Given the description of an element on the screen output the (x, y) to click on. 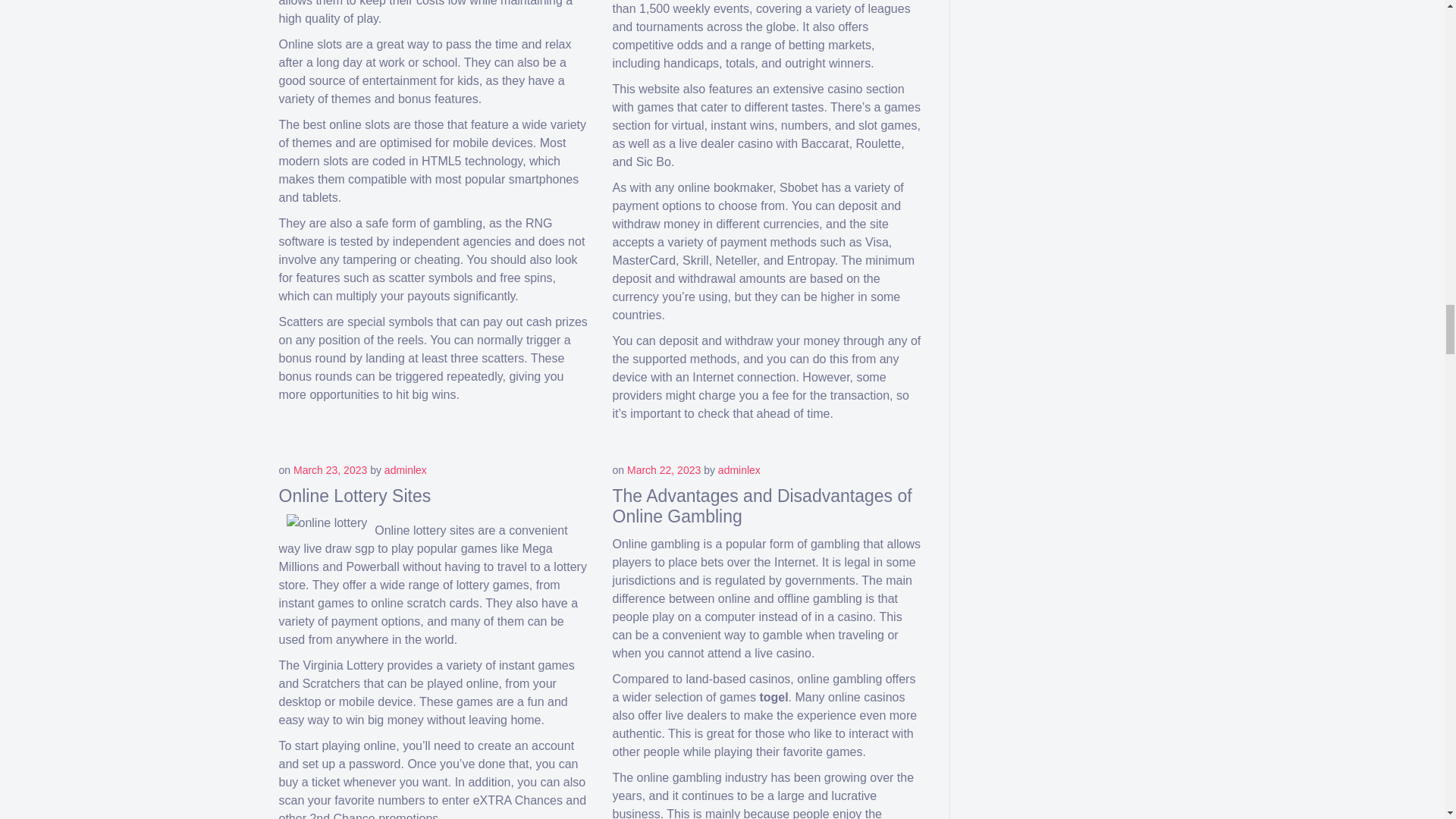
March 23, 2023 (330, 469)
live draw sgp (338, 548)
Online Lottery Sites (354, 496)
adminlex (405, 469)
adminlex (738, 469)
March 22, 2023 (663, 469)
